Given the description of an element on the screen output the (x, y) to click on. 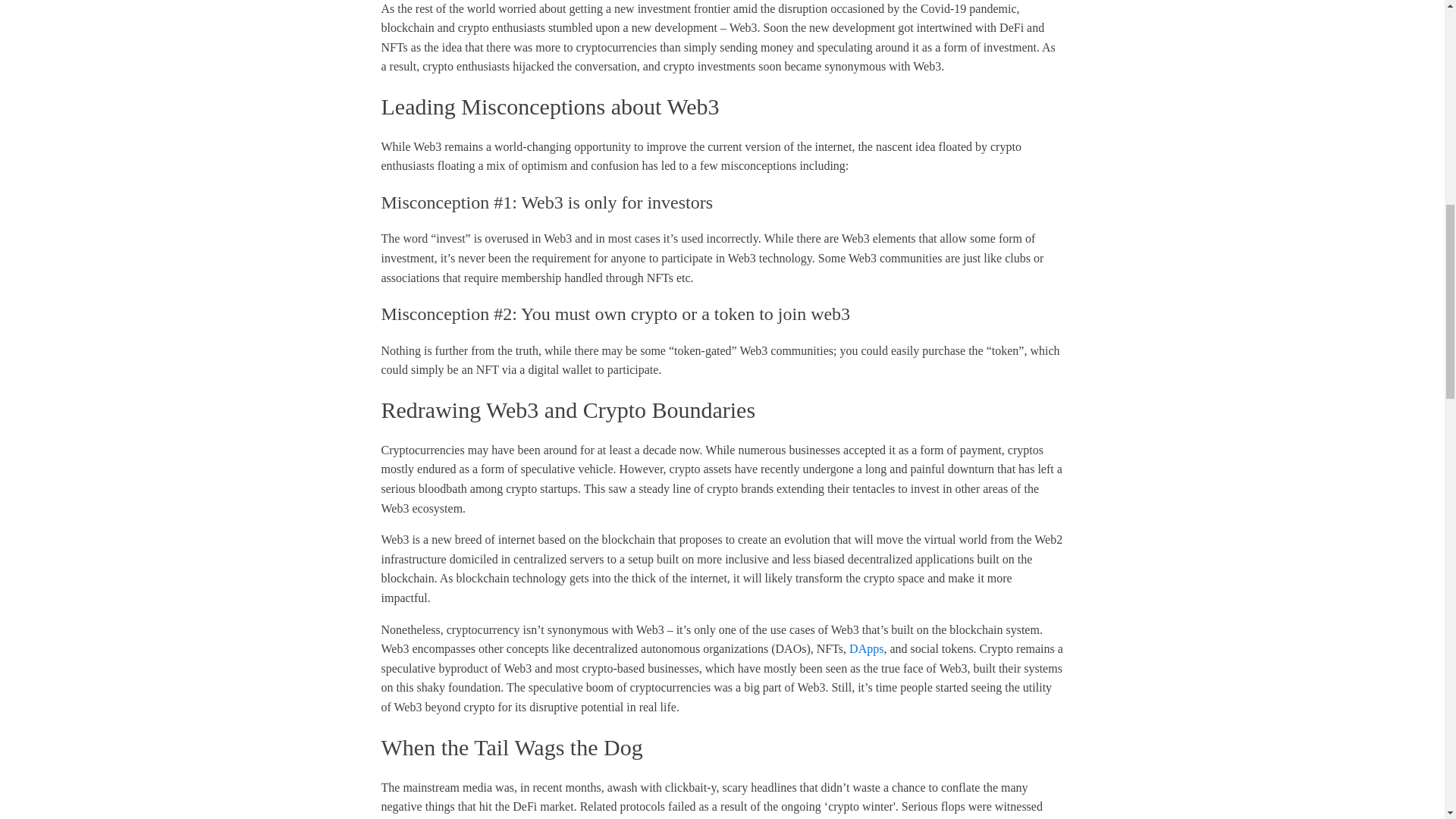
DApps (865, 648)
